Given the description of an element on the screen output the (x, y) to click on. 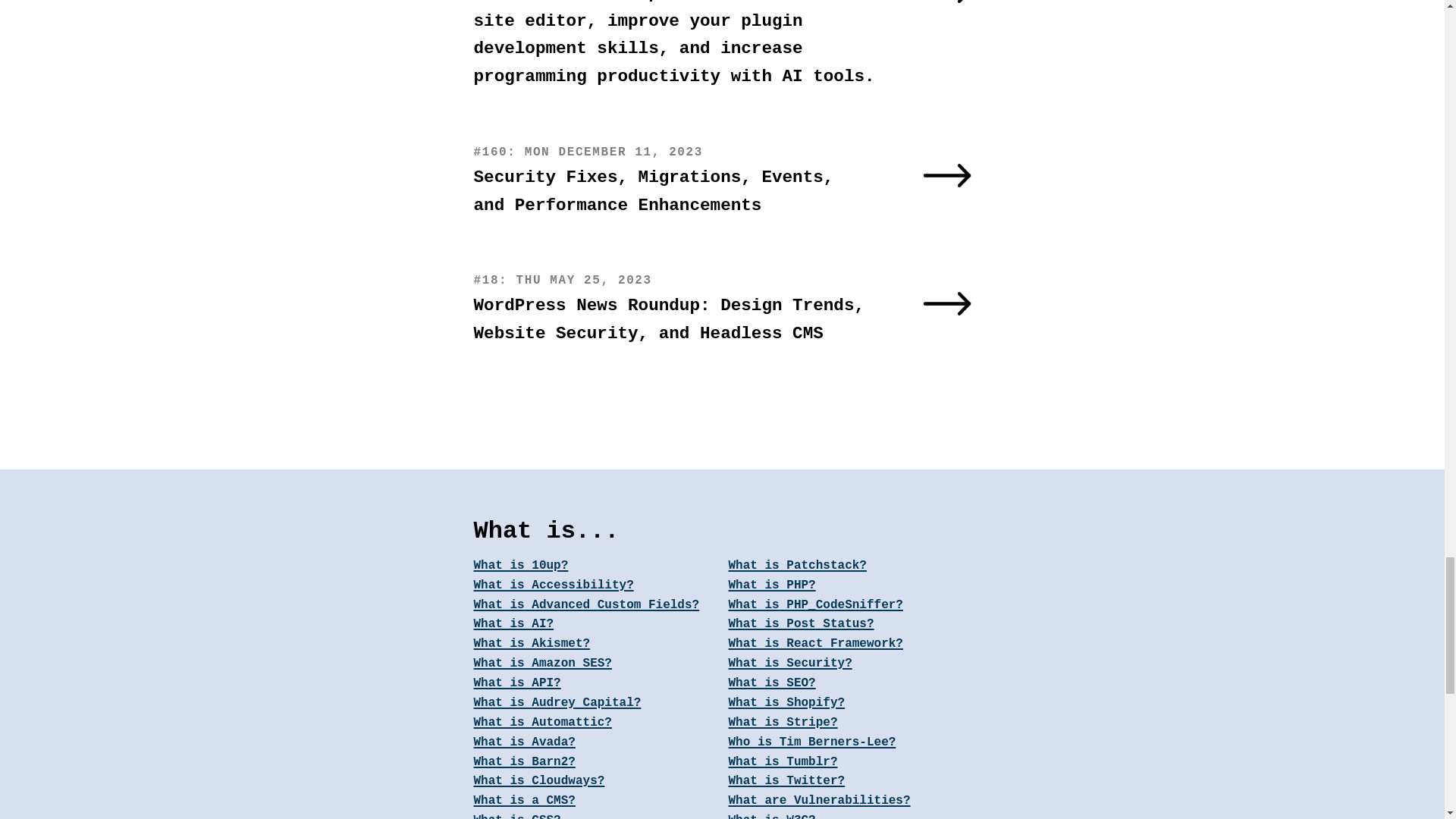
What is Amazon SES? (594, 664)
What is Avada? (594, 742)
What is Audrey Capital? (594, 703)
What is 10up? (594, 566)
What is AI? (594, 624)
What is Accessibility? (594, 586)
What is Akismet? (594, 644)
What is Automattic? (594, 723)
What is Advanced Custom Fields? (594, 605)
What is API? (594, 683)
What is Barn2? (594, 762)
